Given the description of an element on the screen output the (x, y) to click on. 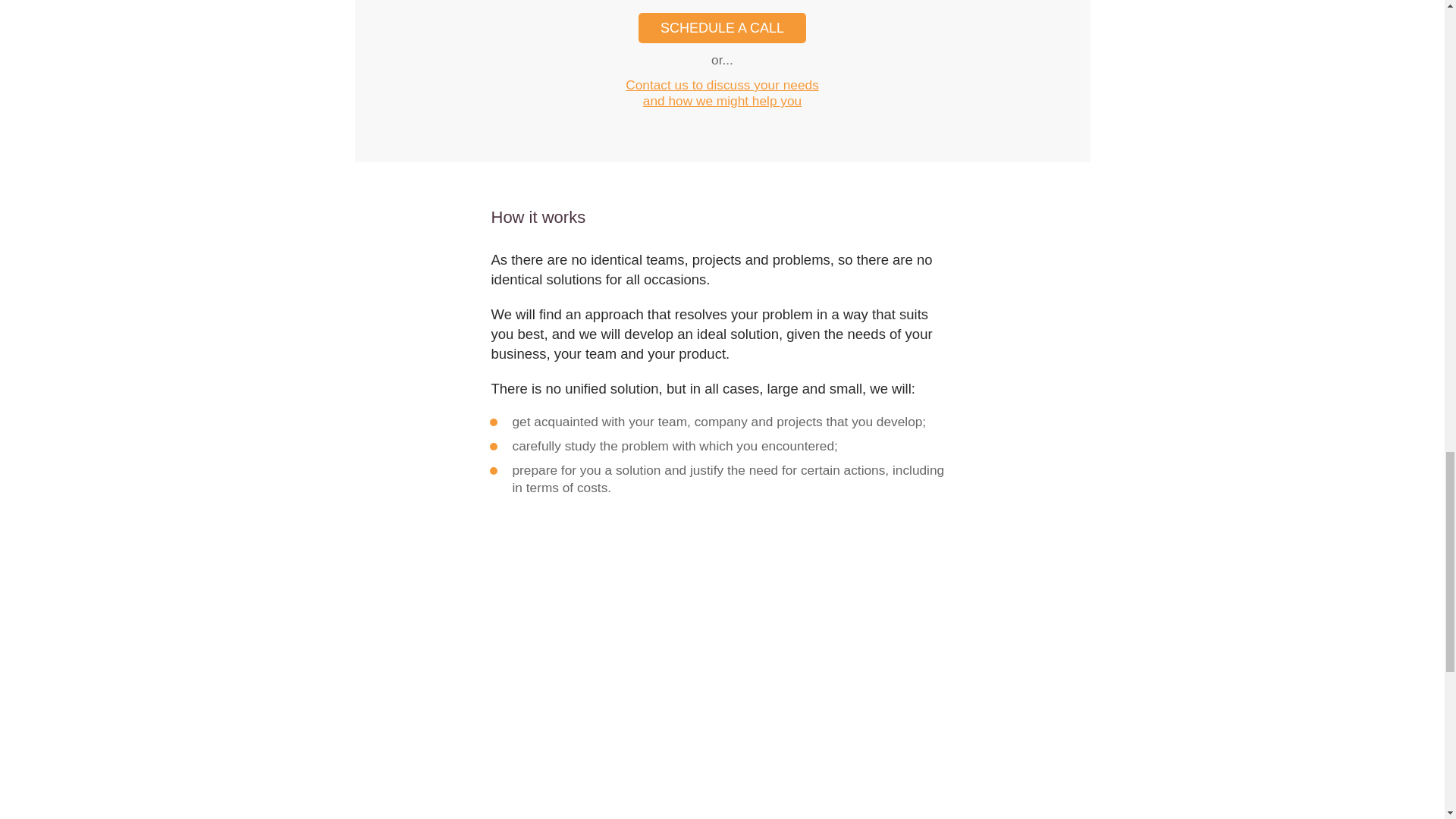
SCHEDULE A CALL (722, 28)
